Given the description of an element on the screen output the (x, y) to click on. 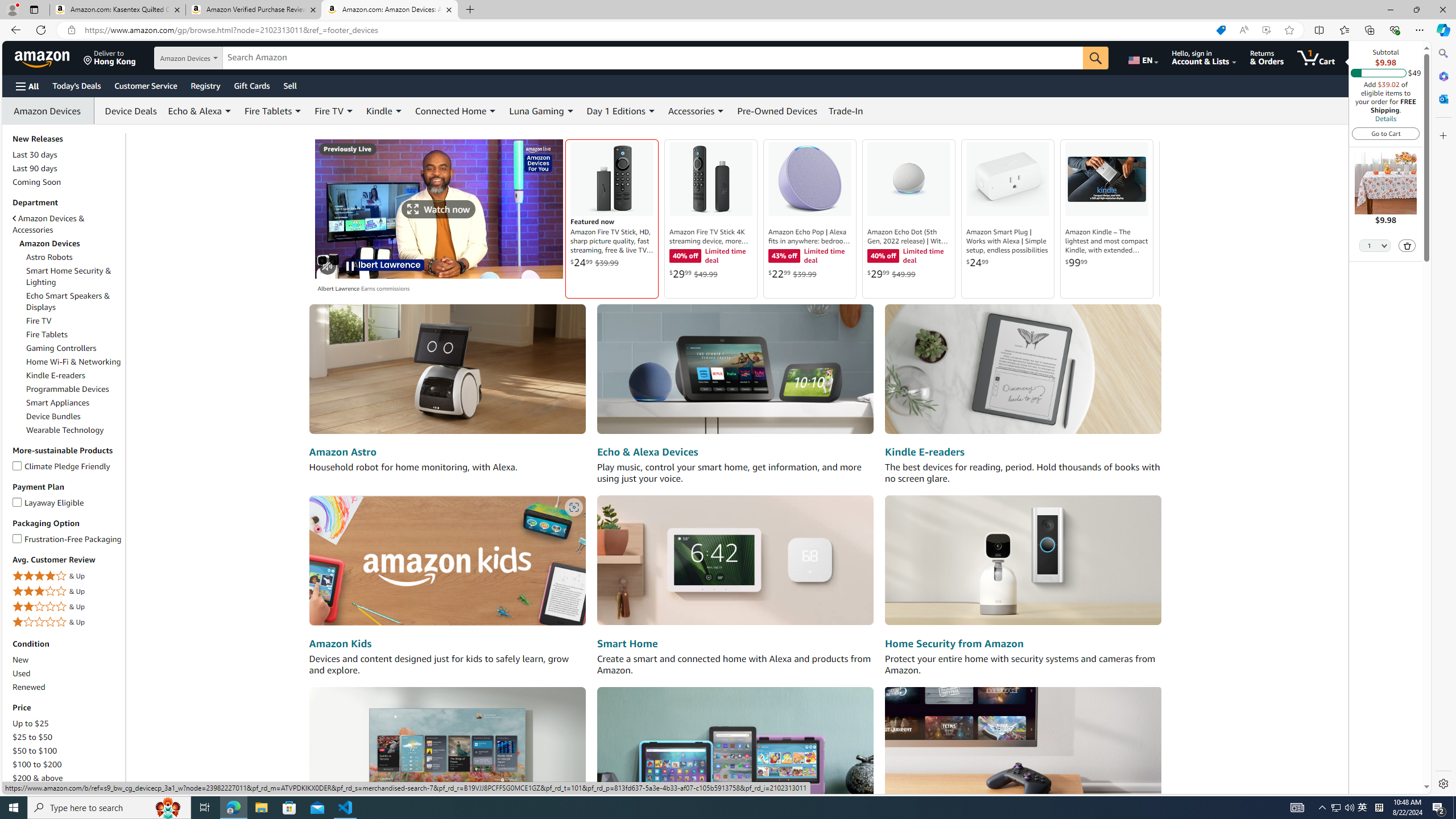
Kindle e-reader devices (1022, 369)
Gaming Controllers (61, 347)
$25 to $50 (67, 736)
$100 to $200 (37, 764)
Fire TV (39, 320)
Programmable Devices (67, 388)
3 Stars & Up (67, 591)
Smart Appliances (74, 402)
Kindle E-readers (74, 374)
Home Wi-Fi & Networking (73, 361)
Smart Appliances (57, 402)
Expand Accessories (720, 111)
Kindle (384, 110)
